Given the description of an element on the screen output the (x, y) to click on. 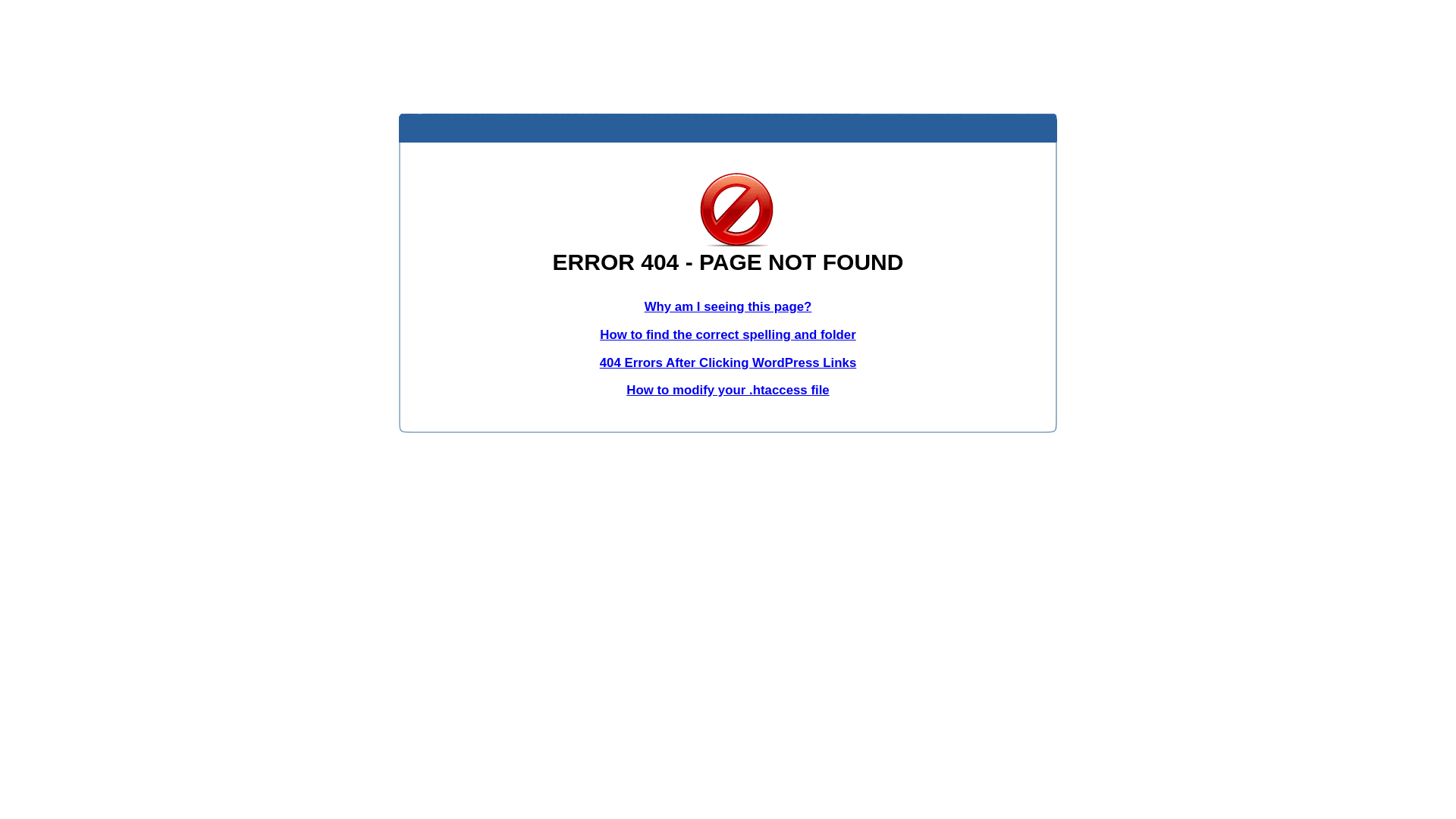
404 Errors After Clicking WordPress Links Element type: text (727, 362)
Why am I seeing this page? Element type: text (728, 306)
How to modify your .htaccess file Element type: text (727, 389)
How to find the correct spelling and folder Element type: text (727, 334)
